Given the description of an element on the screen output the (x, y) to click on. 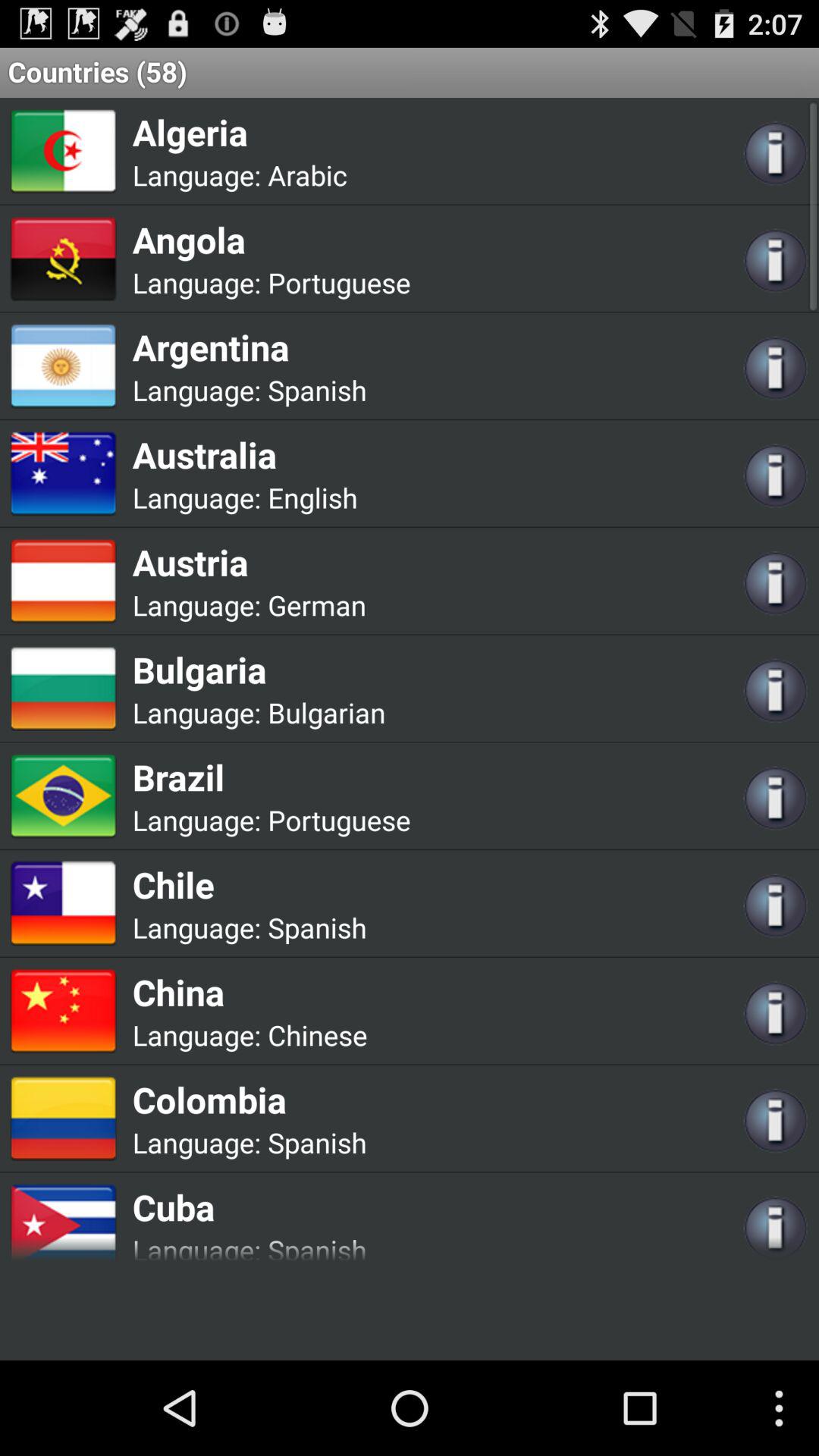
scroll until bulgarian (326, 712)
